Given the description of an element on the screen output the (x, y) to click on. 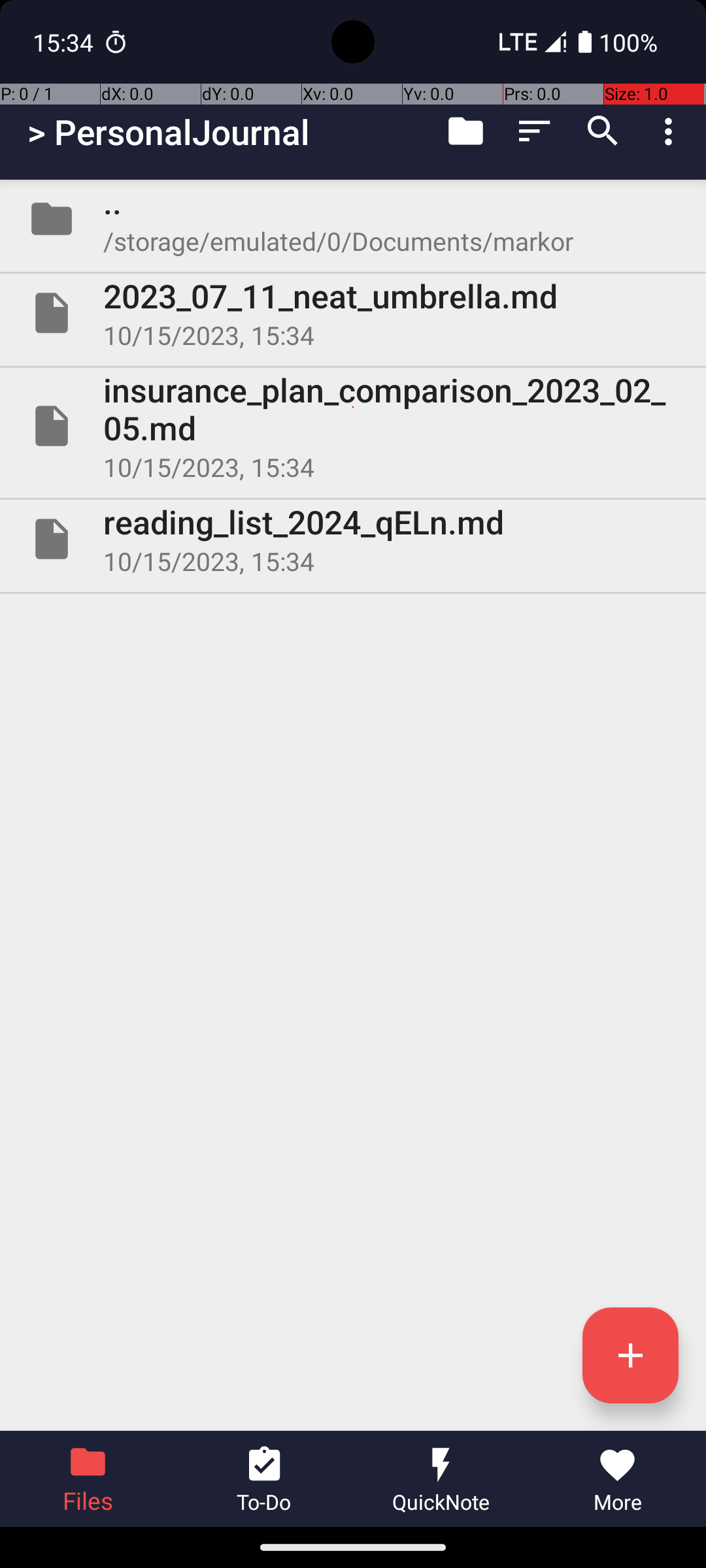
> PersonalJournal Element type: android.widget.TextView (168, 131)
File 2023_07_11_neat_umbrella.md 10/15/2023, 15:34 Element type: android.widget.LinearLayout (353, 312)
File insurance_plan_comparison_2023_02_05.md 10/15/2023, 15:34 Element type: android.widget.LinearLayout (353, 425)
File reading_list_2024_qELn.md  Element type: android.widget.LinearLayout (353, 538)
